Given the description of an element on the screen output the (x, y) to click on. 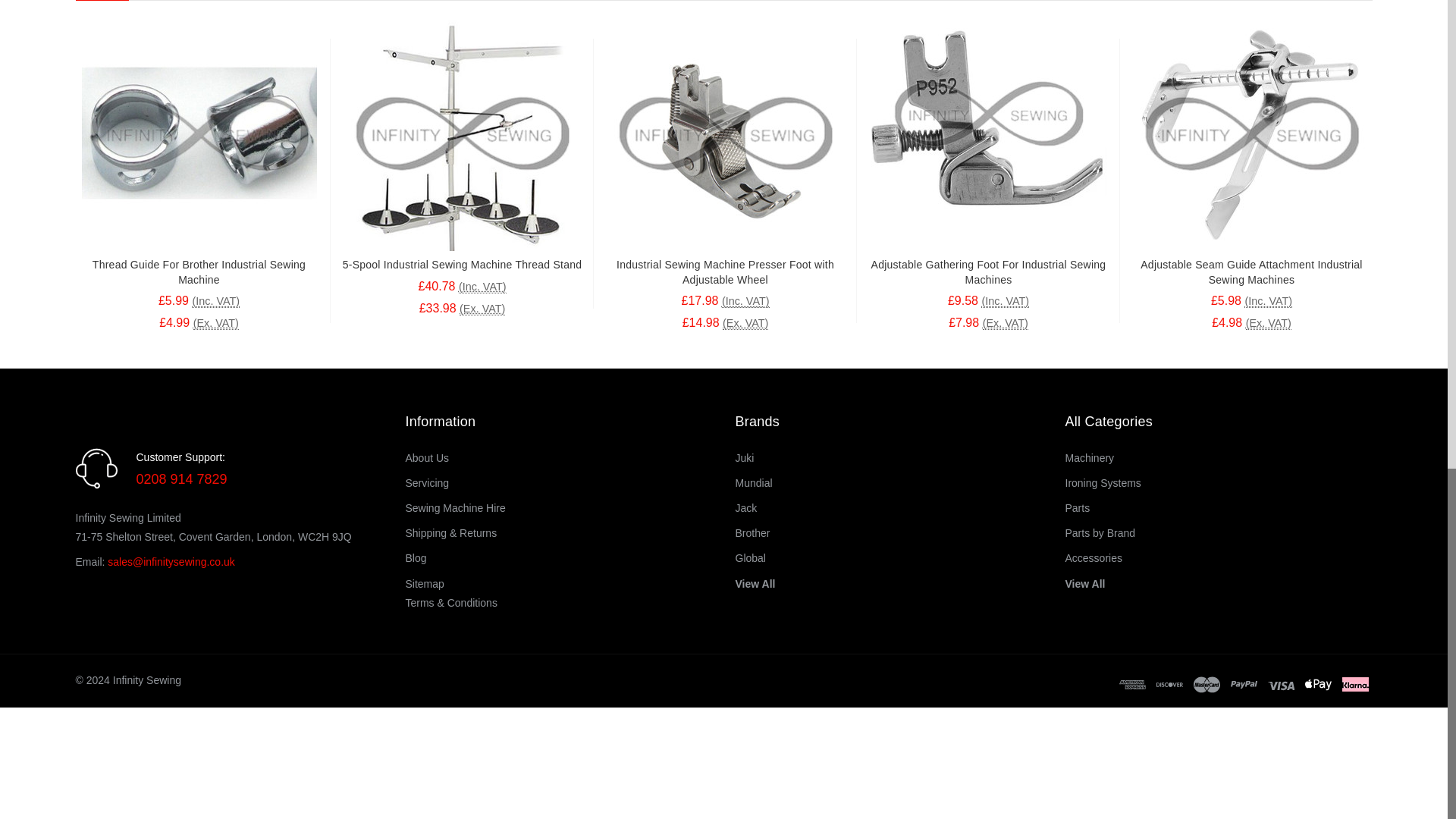
Excluding Tax (216, 300)
Excluding Tax (215, 323)
Excluding Tax (482, 286)
Excluding Tax (482, 308)
